Given the description of an element on the screen output the (x, y) to click on. 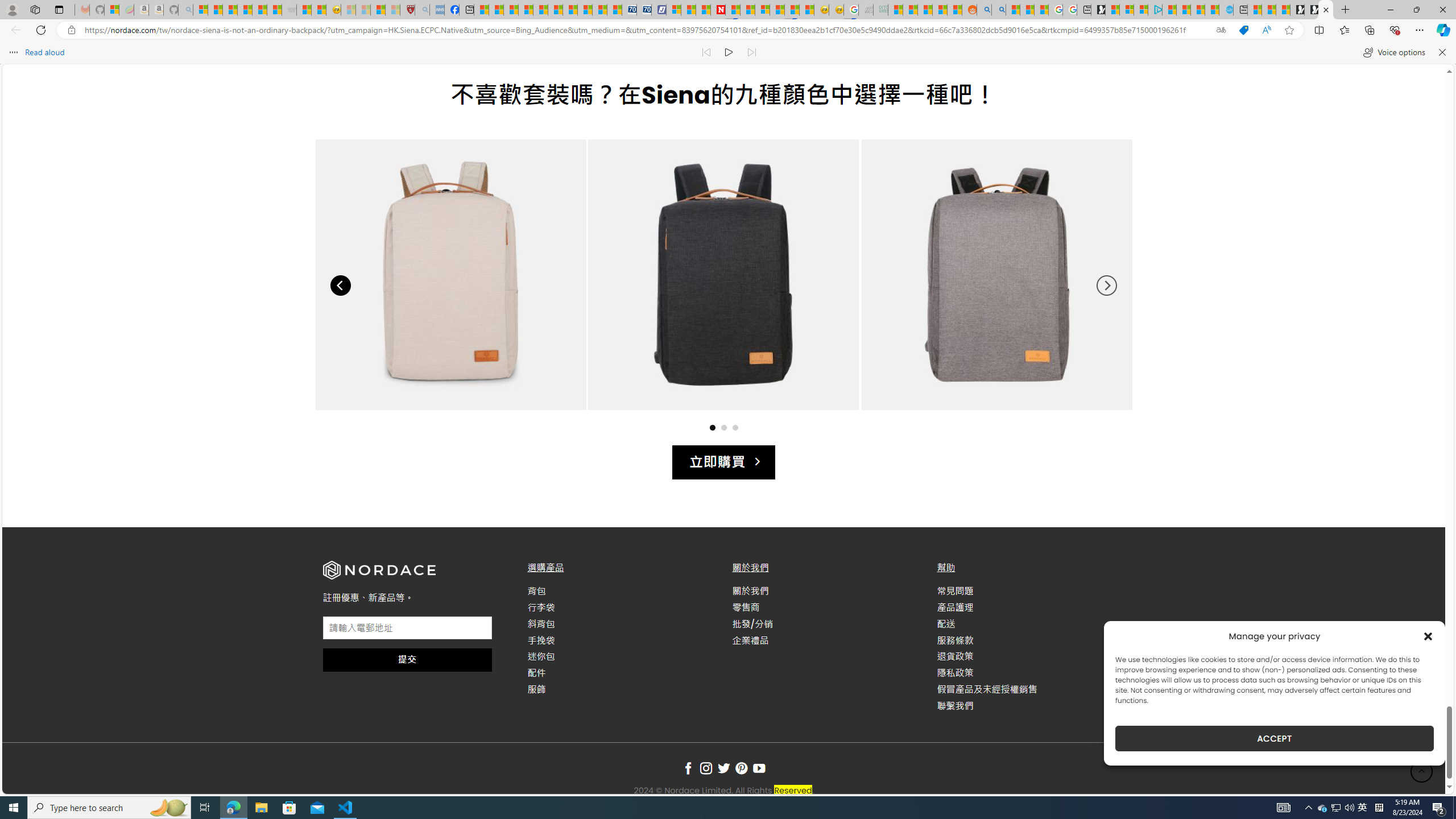
Newsweek - News, Analysis, Politics, Business, Technology (718, 9)
Read next paragraph (750, 52)
Previous (340, 285)
NCL Adult Asthma Inhaler Choice Guideline - Sleeping (437, 9)
Student Loan Update: Forgiveness Program Ends This Month (939, 9)
Combat Siege - Sleeping (288, 9)
Read previous paragraph (705, 52)
Back (13, 29)
